Given the description of an element on the screen output the (x, y) to click on. 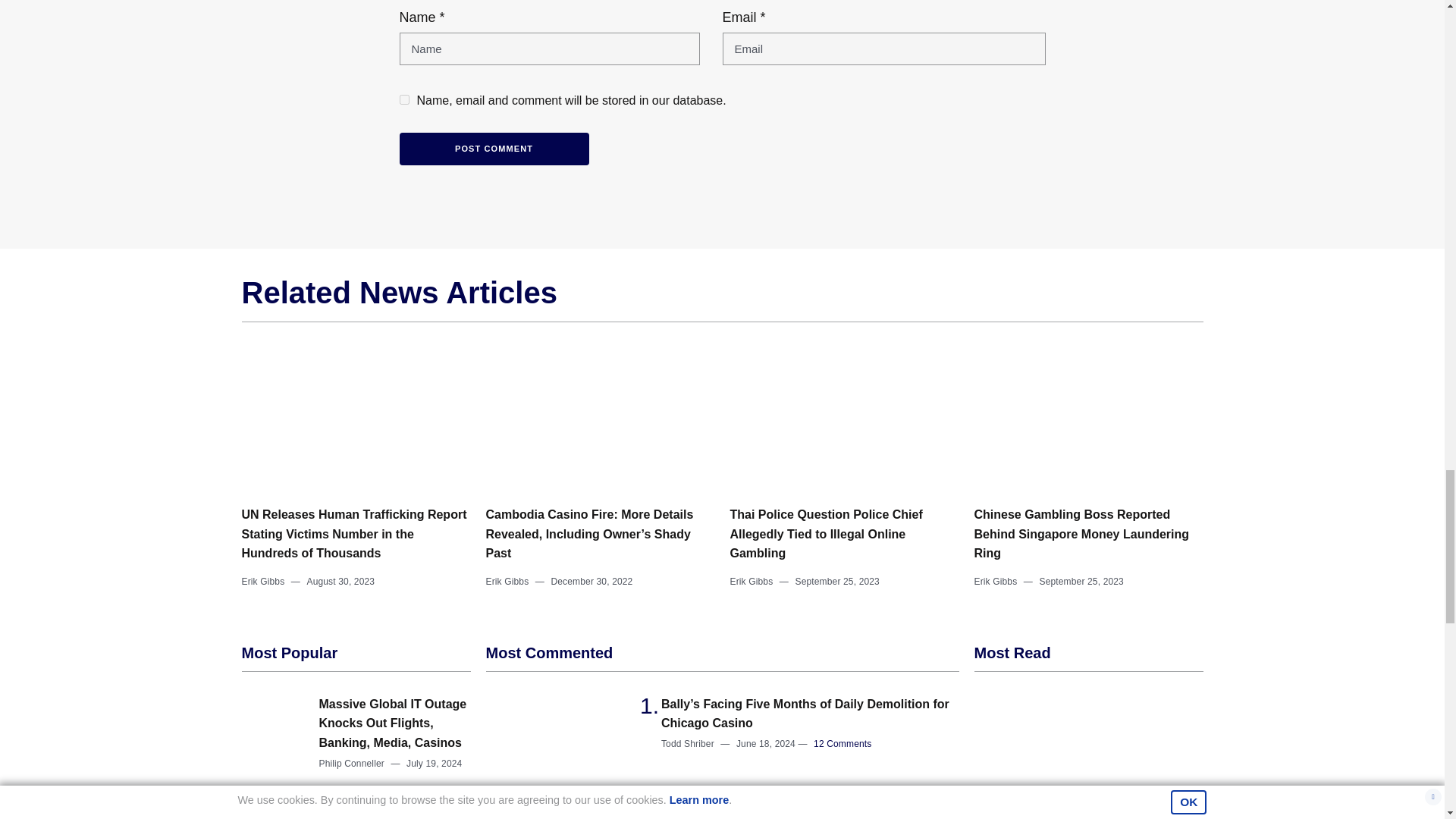
Post Comment (493, 148)
yes (403, 99)
